Given the description of an element on the screen output the (x, y) to click on. 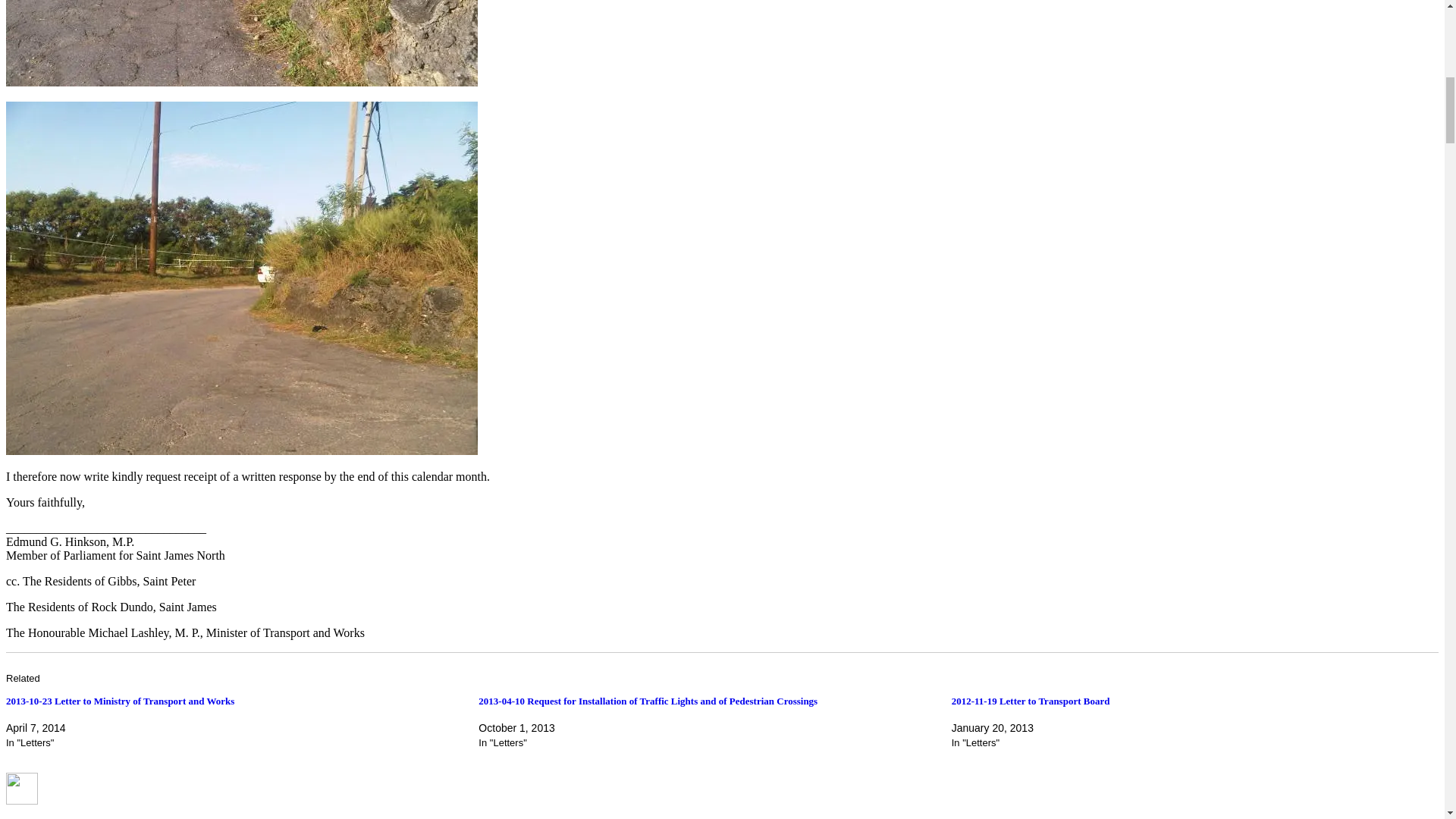
2012-11-19 Letter to Transport Board (1030, 700)
2012-11-19 Letter to Transport Board (1030, 700)
2013-10-23 Letter to Ministry of Transport and Works (119, 700)
2013-10-23 Letter to Ministry of Transport and Works (119, 700)
